Given the description of an element on the screen output the (x, y) to click on. 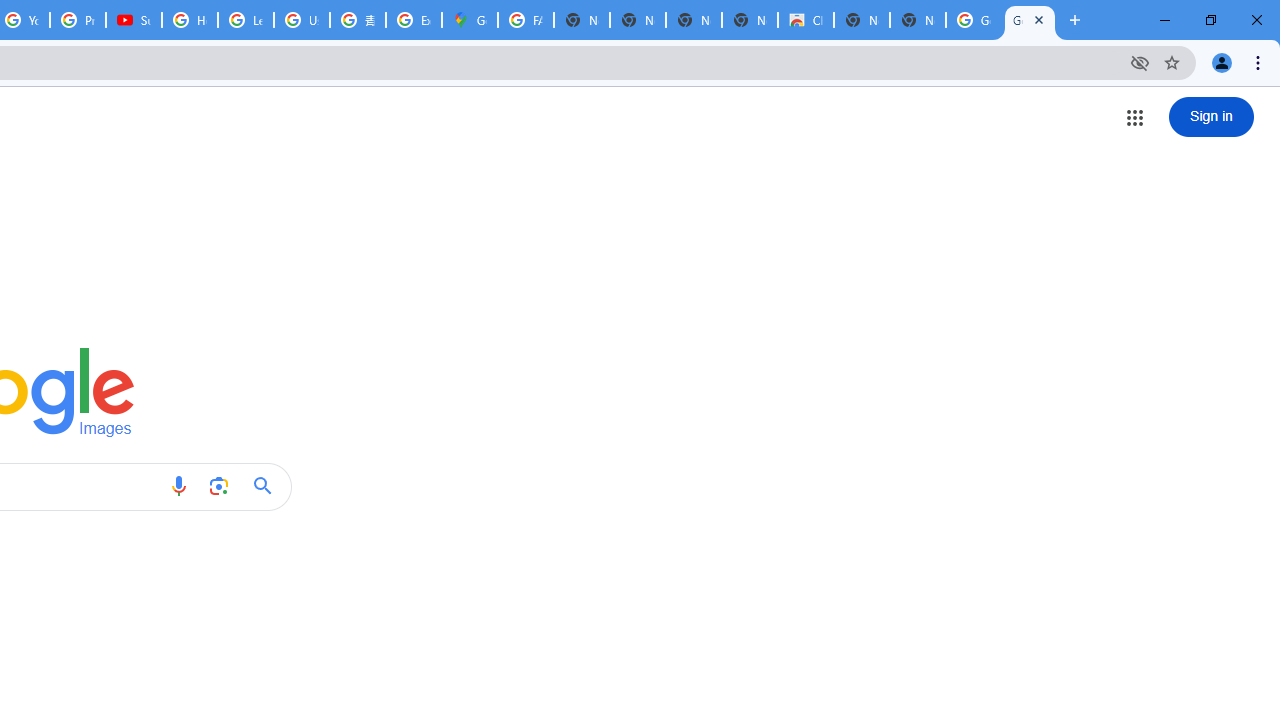
Google Images (1030, 20)
